Given the description of an element on the screen output the (x, y) to click on. 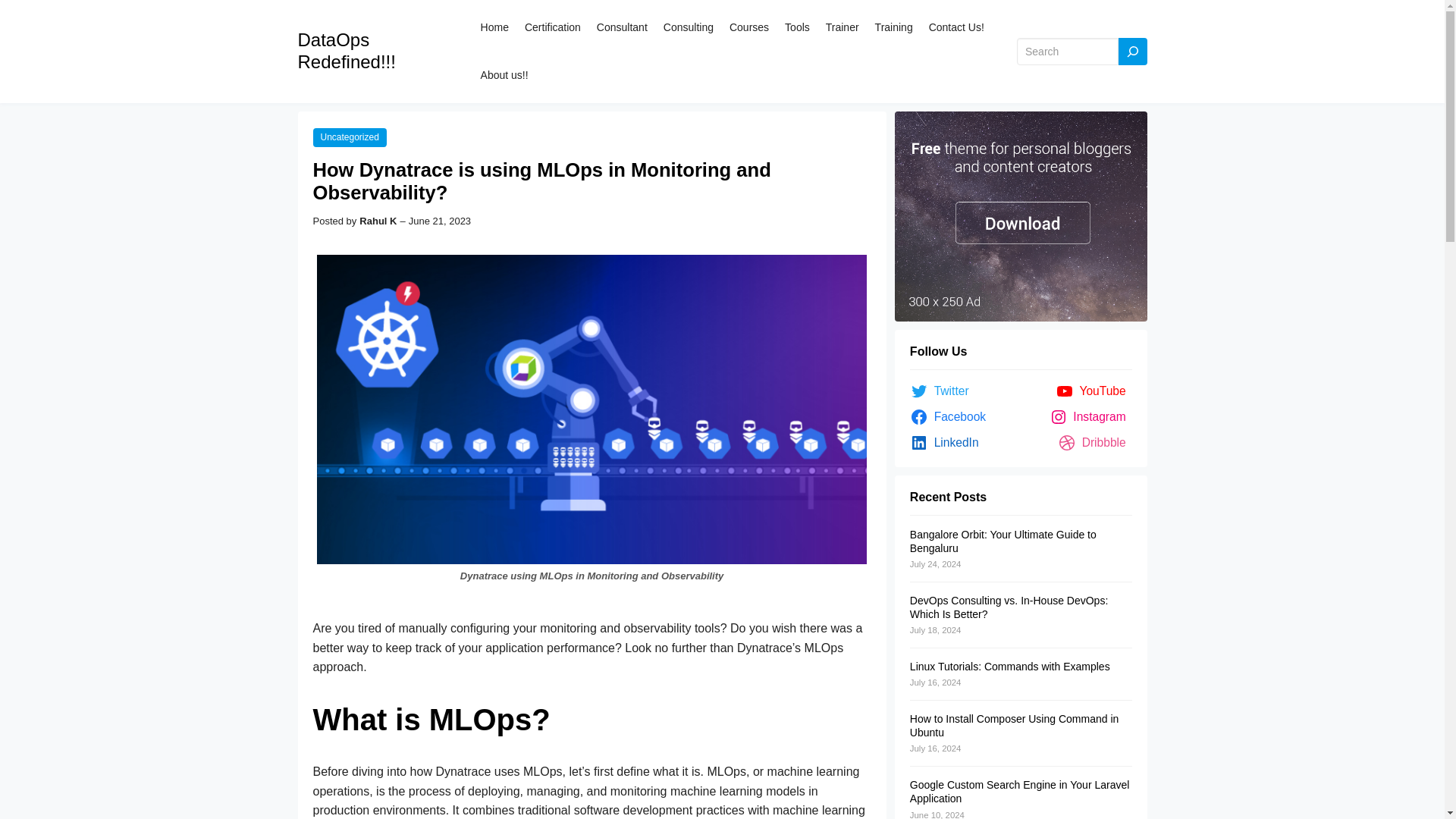
Bangalore Orbit: Your Ultimate Guide to Bengaluru (1003, 541)
Instagram (1090, 416)
LinkedIn (947, 443)
Courses (748, 27)
Certification (552, 27)
Contact Us! (956, 27)
About us!! (504, 74)
Trainer (842, 27)
YouTube (1093, 391)
Facebook (950, 416)
